Given the description of an element on the screen output the (x, y) to click on. 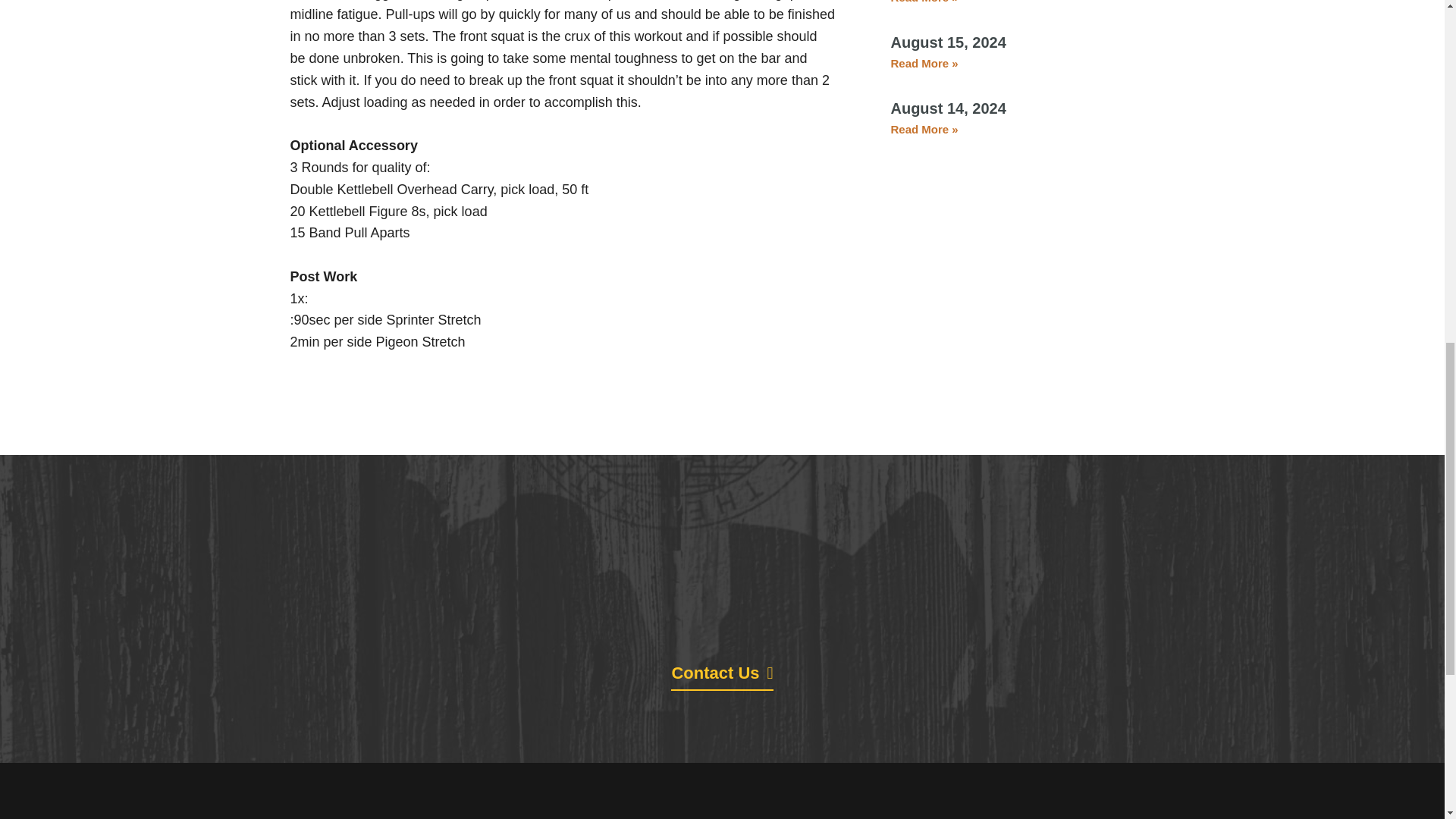
August 15, 2024 (947, 42)
August 14, 2024 (947, 108)
Contact Us (722, 678)
